Given the description of an element on the screen output the (x, y) to click on. 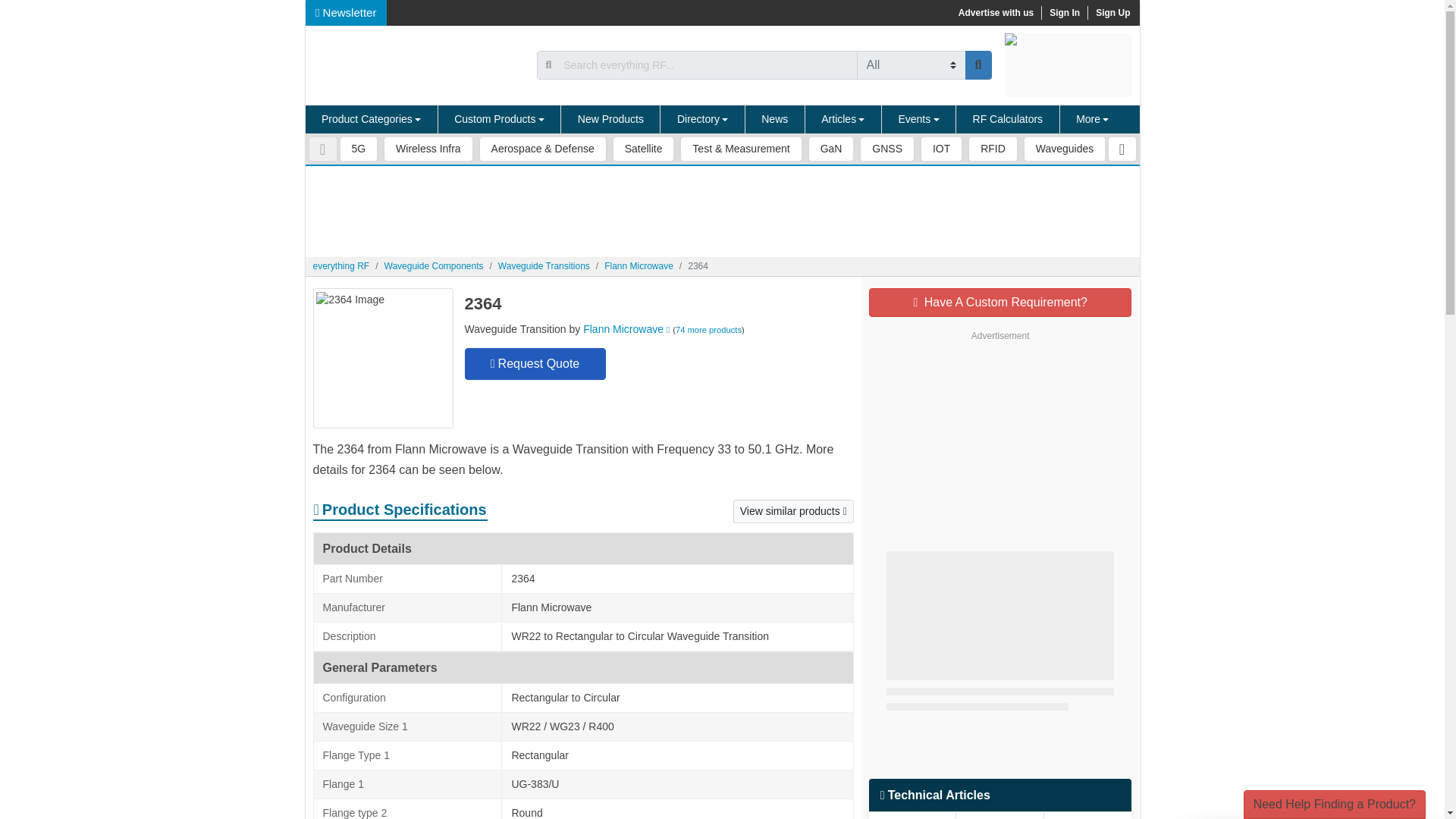
Newsletter (345, 12)
Sign In (1064, 12)
Sign Up (1112, 12)
Product Categories (371, 119)
Advertise with us (995, 12)
